Given the description of an element on the screen output the (x, y) to click on. 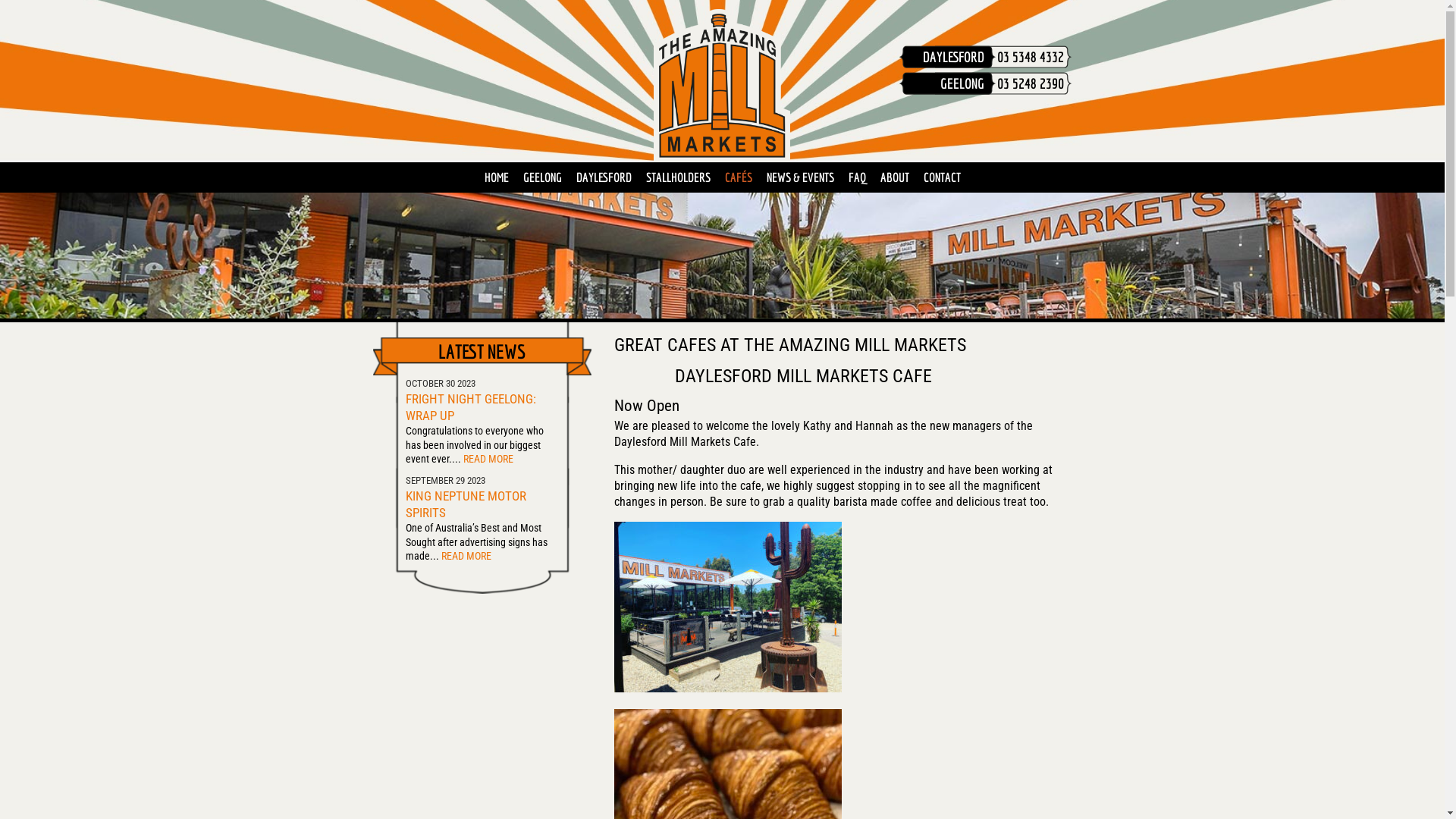
The Amazing Mill Markets | We Sell Amazing Things  Element type: hover (721, 84)
DAYLESFORD Element type: text (603, 177)
STALLHOLDERS Element type: text (678, 177)
FRIGHT NIGHT GEELONG: WRAP UP Element type: text (470, 407)
GEELONG Element type: text (542, 177)
NEWS & EVENTS Element type: text (799, 177)
KING NEPTUNE MOTOR SPIRITS Element type: text (465, 504)
READ MORE  Element type: text (467, 556)
CONTACT Element type: text (941, 177)
READ MORE  Element type: text (489, 459)
ABOUT Element type: text (893, 177)
HOME Element type: text (495, 177)
FAQ Element type: text (856, 177)
